Given the description of an element on the screen output the (x, y) to click on. 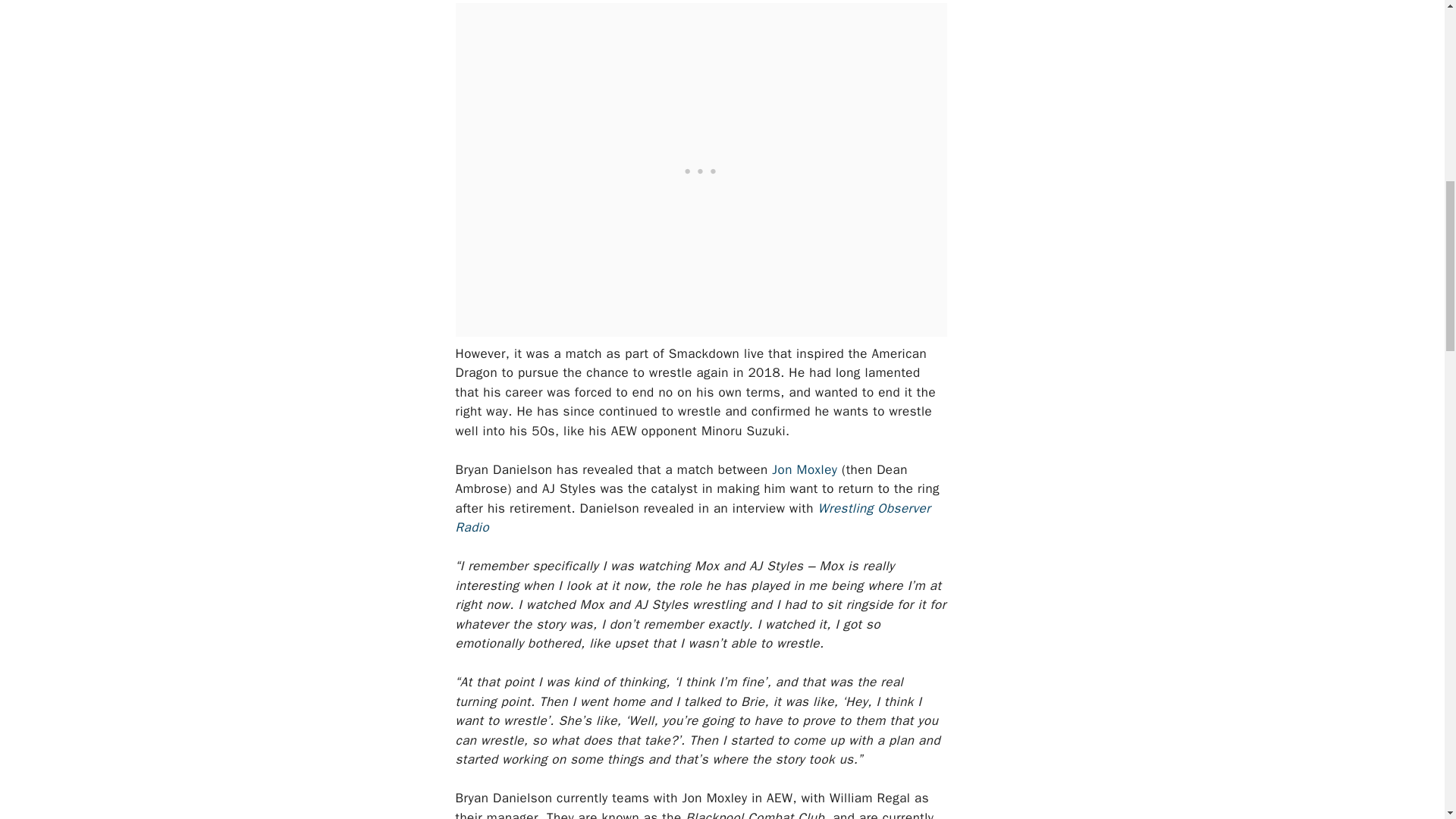
Wrestling Observer Radio (692, 518)
Jon Moxley (804, 469)
